Given the description of an element on the screen output the (x, y) to click on. 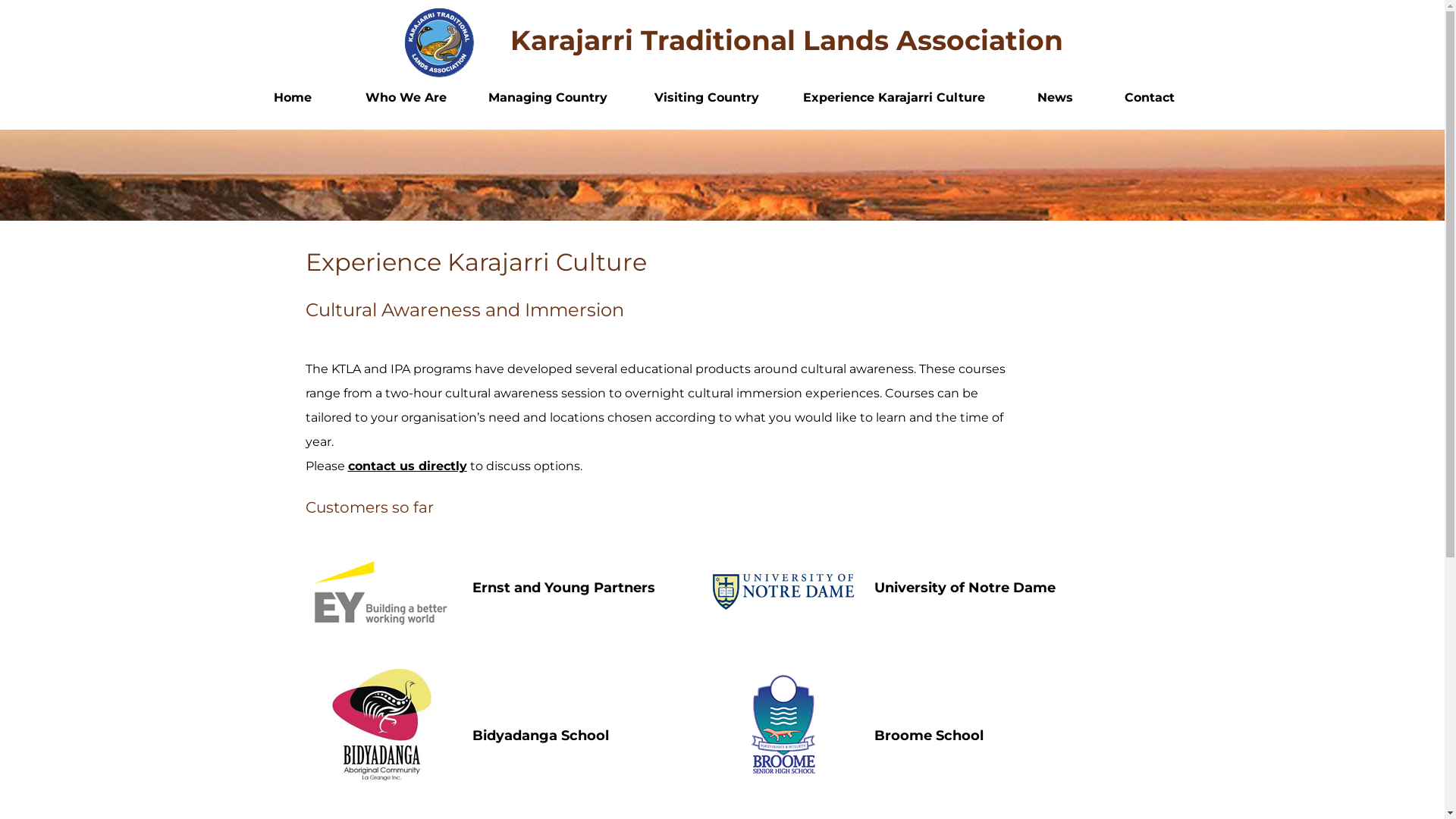
Who We Are Element type: text (405, 97)
Managing Country Element type: text (547, 97)
Experience Karajarri Culture Element type: text (893, 97)
Visiting Country Element type: text (705, 97)
Contact Element type: text (1148, 97)
contact us directly Element type: text (406, 465)
News Element type: text (1054, 97)
Home Element type: text (291, 97)
